Given the description of an element on the screen output the (x, y) to click on. 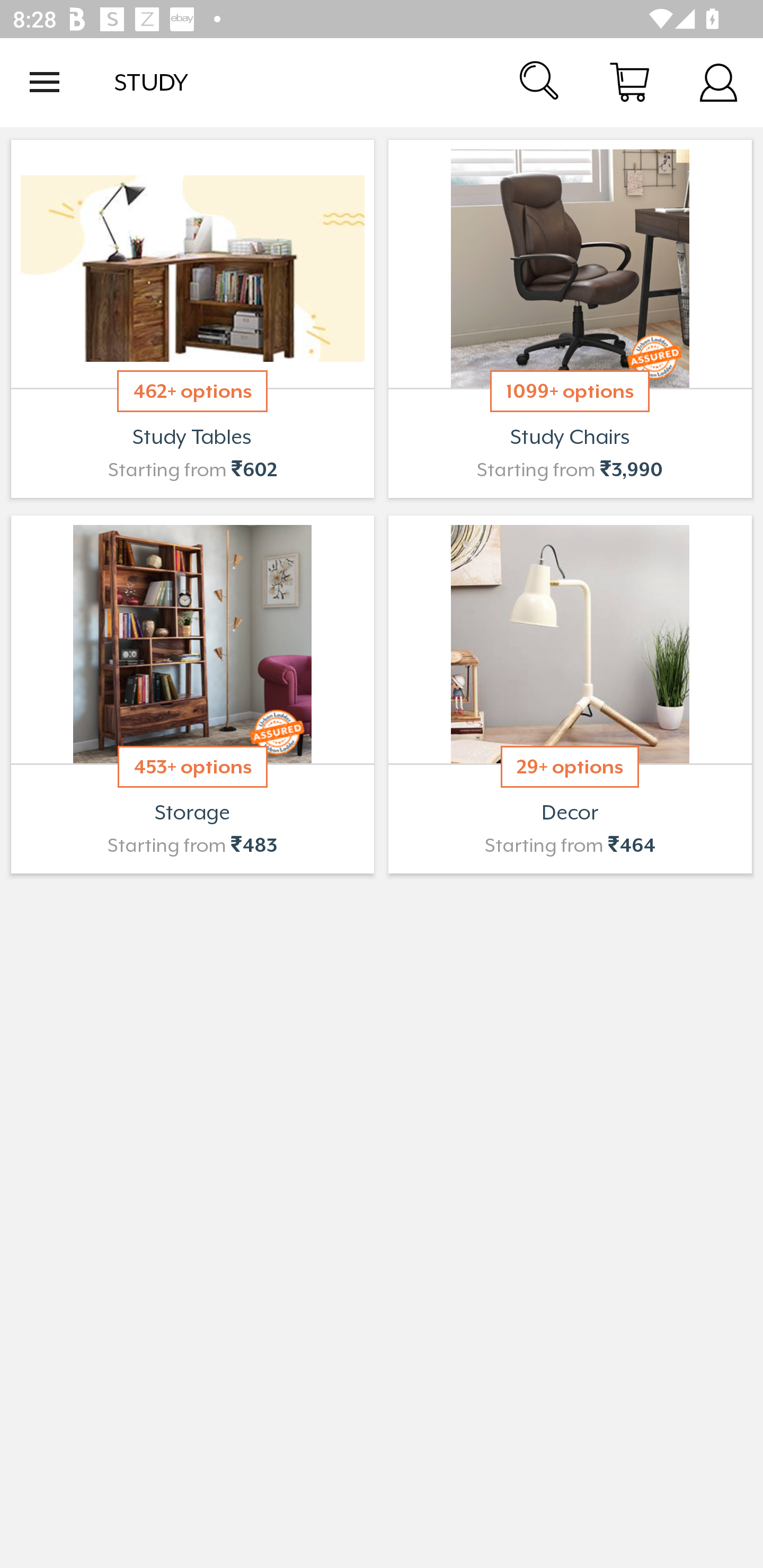
Open navigation drawer (44, 82)
Search (540, 81)
Cart (629, 81)
Account Details (718, 81)
462+ options Study Tables Starting from  ₹602 (191, 318)
1099+ options Study Chairs Starting from  ₹3,990 (570, 318)
453+ options Storage Starting from  ₹483 (191, 694)
29+ options Decor Starting from  ₹464 (570, 694)
